Given the description of an element on the screen output the (x, y) to click on. 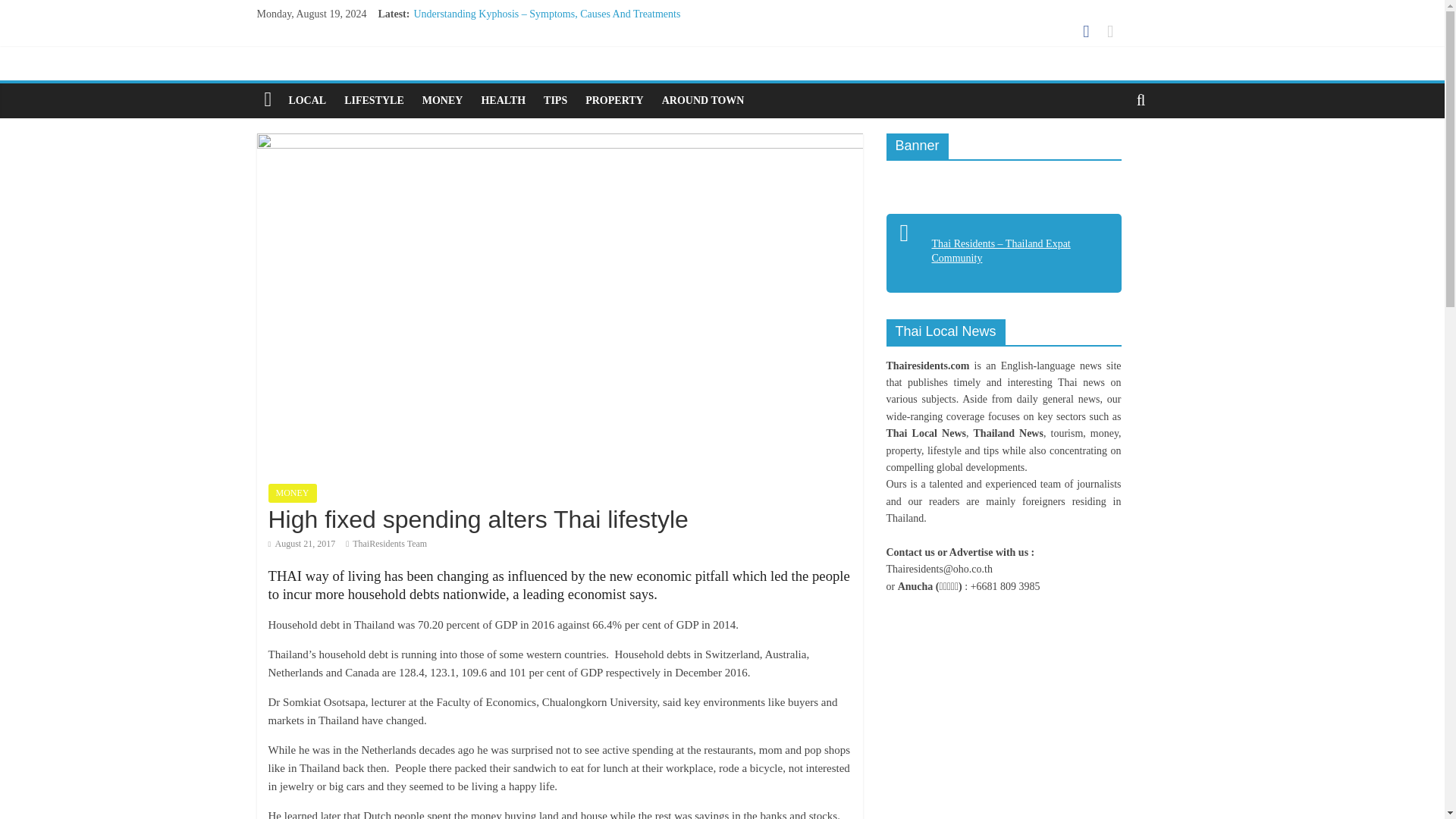
TIPS (555, 100)
LIFESTYLE (373, 100)
August 21, 2017 (301, 543)
LOCAL (306, 100)
7:10 am (301, 543)
MONEY (292, 493)
ThaiResidents Team (389, 543)
ThaiResidents Team (389, 543)
PROPERTY (614, 100)
HEALTH (502, 100)
